Given the description of an element on the screen output the (x, y) to click on. 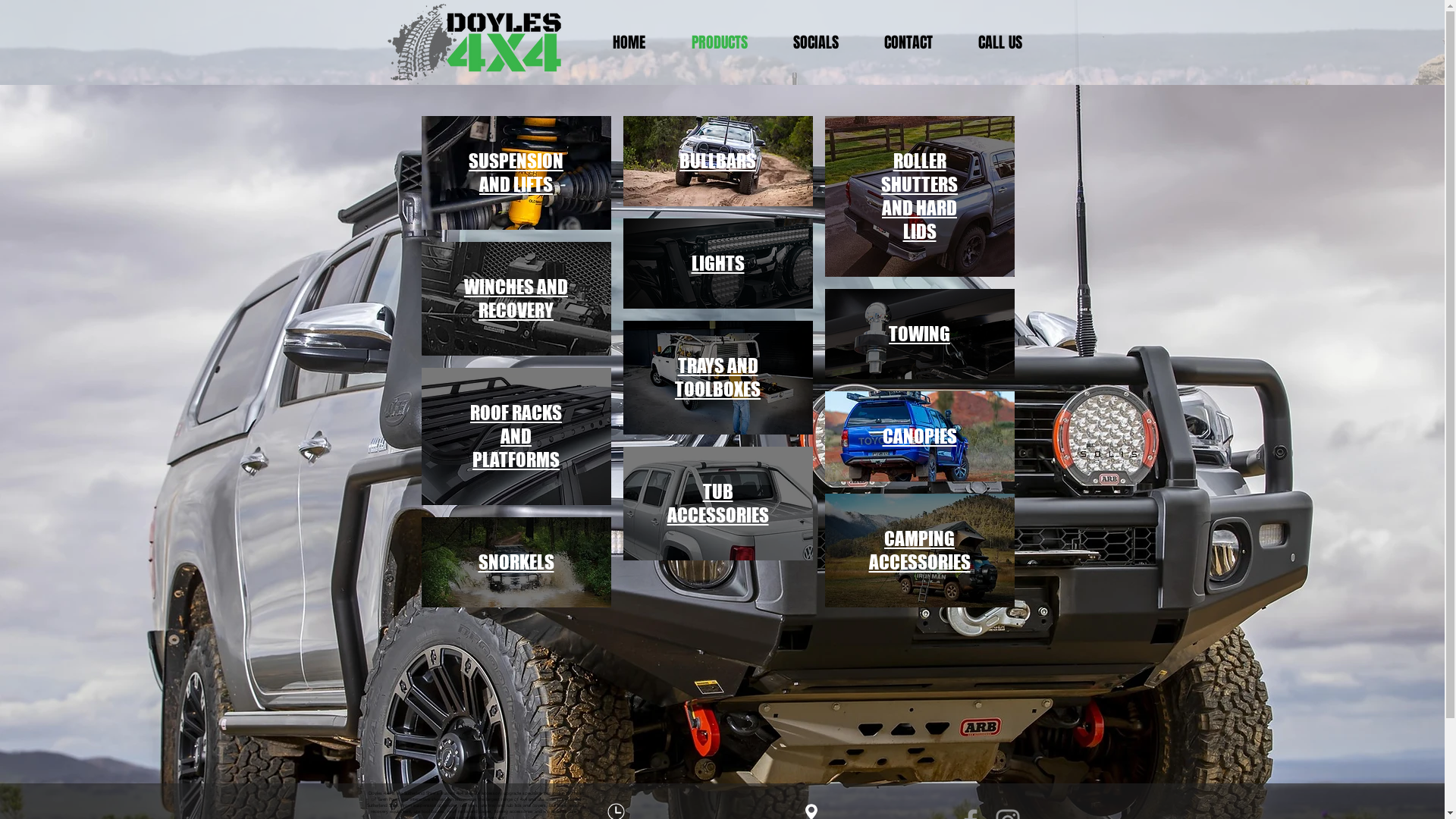
LIGHTS Element type: text (717, 263)
PRODUCTS Element type: text (730, 42)
SUSPENSION AND LIFTS Element type: text (515, 173)
CAMPING ACCESSORIES Element type: text (919, 550)
TRAYS AND TOOLBOXES Element type: text (717, 377)
TOWING Element type: text (919, 334)
SOCIALS Element type: text (826, 42)
BULLBARS Element type: text (717, 161)
ROLLER SHUTTERS AND HARD LIDS Element type: text (919, 196)
SNORKELS Element type: text (515, 562)
HOME Element type: text (639, 42)
WINCHES AND RECOVERY Element type: text (515, 299)
TUB ACCESSORIES Element type: text (717, 503)
CANOPIES Element type: text (919, 436)
CALL US Element type: text (1010, 42)
CONTACT Element type: text (919, 42)
ROOF RACKS AND PLATFORMS Element type: text (515, 436)
